Given the description of an element on the screen output the (x, y) to click on. 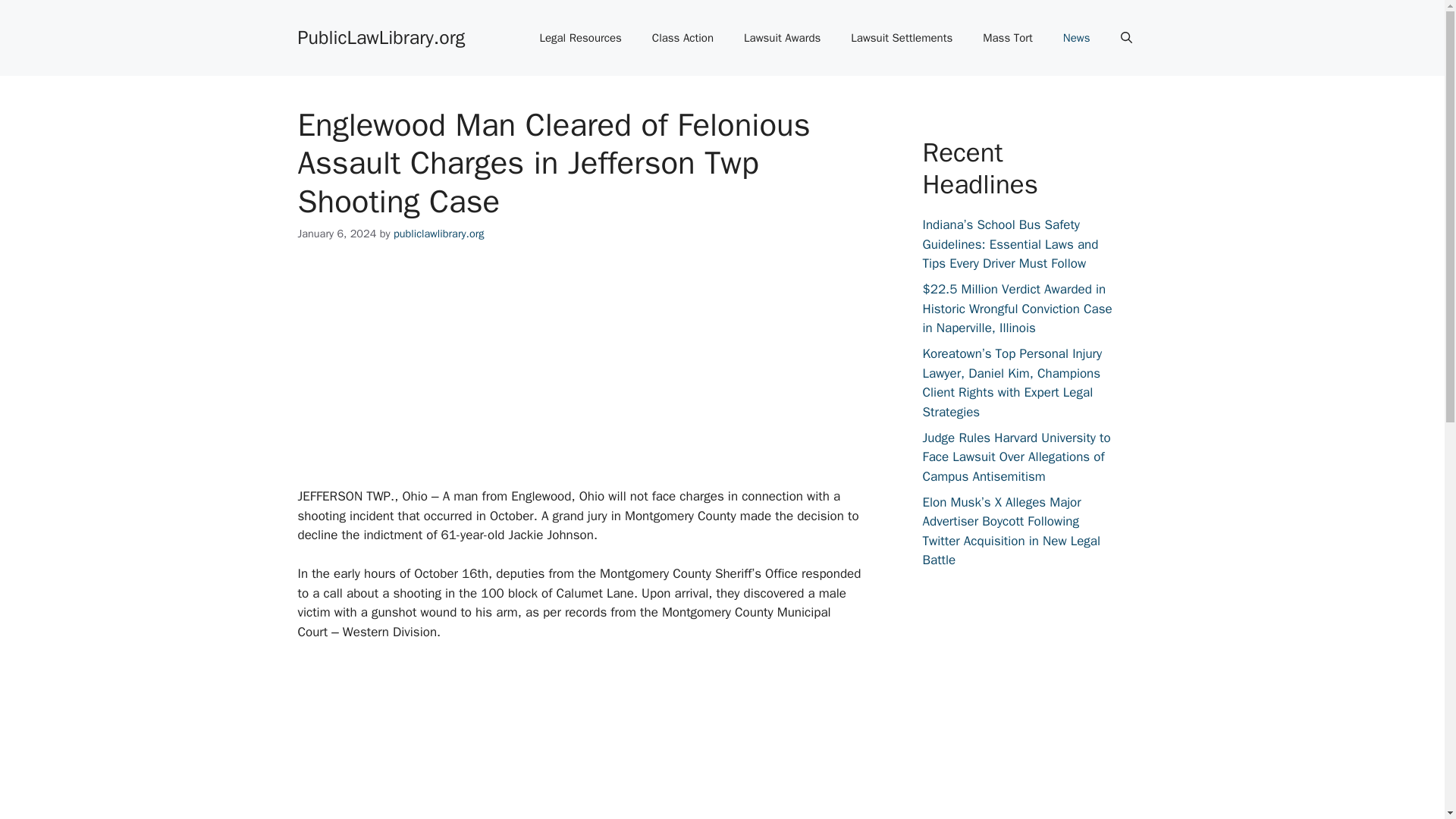
View all posts by publiclawlibrary.org (438, 233)
Advertisement (600, 739)
Advertisement (600, 374)
Mass Tort (1008, 37)
News (1076, 37)
Legal Resources (580, 37)
Class Action (683, 37)
Lawsuit Settlements (901, 37)
PublicLawLibrary.org (380, 37)
publiclawlibrary.org (438, 233)
Lawsuit Awards (782, 37)
